Given the description of an element on the screen output the (x, y) to click on. 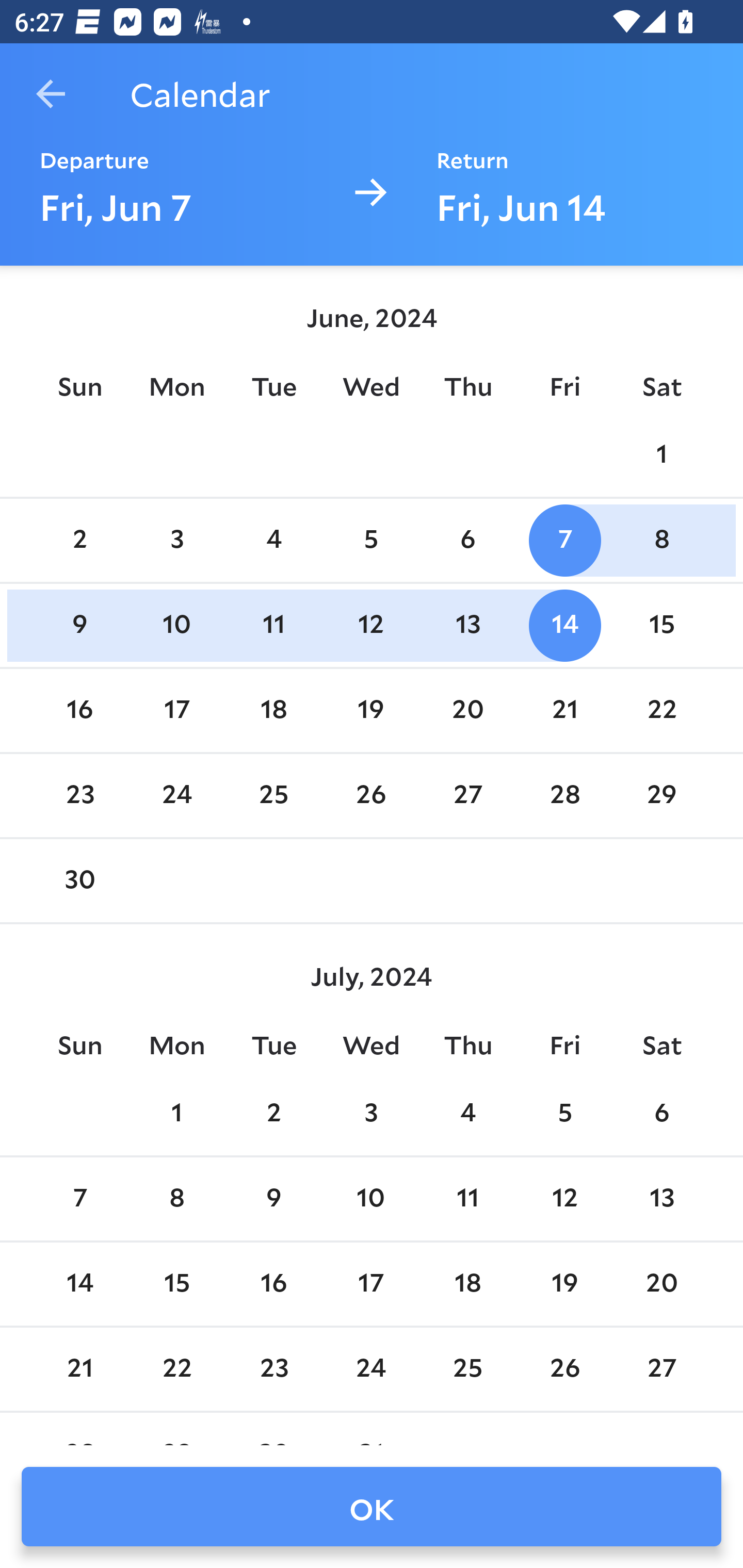
Navigate up (50, 93)
1 (661, 454)
2 (79, 540)
3 (177, 540)
4 (273, 540)
5 (371, 540)
6 (467, 540)
7 (565, 540)
8 (661, 540)
9 (79, 625)
10 (177, 625)
11 (273, 625)
12 (371, 625)
13 (467, 625)
14 (565, 625)
15 (661, 625)
16 (79, 710)
17 (177, 710)
18 (273, 710)
19 (371, 710)
20 (467, 710)
21 (565, 710)
22 (661, 710)
23 (79, 796)
24 (177, 796)
25 (273, 796)
26 (371, 796)
27 (467, 796)
28 (565, 796)
29 (661, 796)
30 (79, 881)
1 (177, 1114)
2 (273, 1114)
3 (371, 1114)
4 (467, 1114)
5 (565, 1114)
6 (661, 1114)
7 (79, 1199)
8 (177, 1199)
9 (273, 1199)
10 (371, 1199)
11 (467, 1199)
12 (565, 1199)
13 (661, 1199)
14 (79, 1284)
15 (177, 1284)
16 (273, 1284)
17 (371, 1284)
18 (467, 1284)
19 (565, 1284)
